Given the description of an element on the screen output the (x, y) to click on. 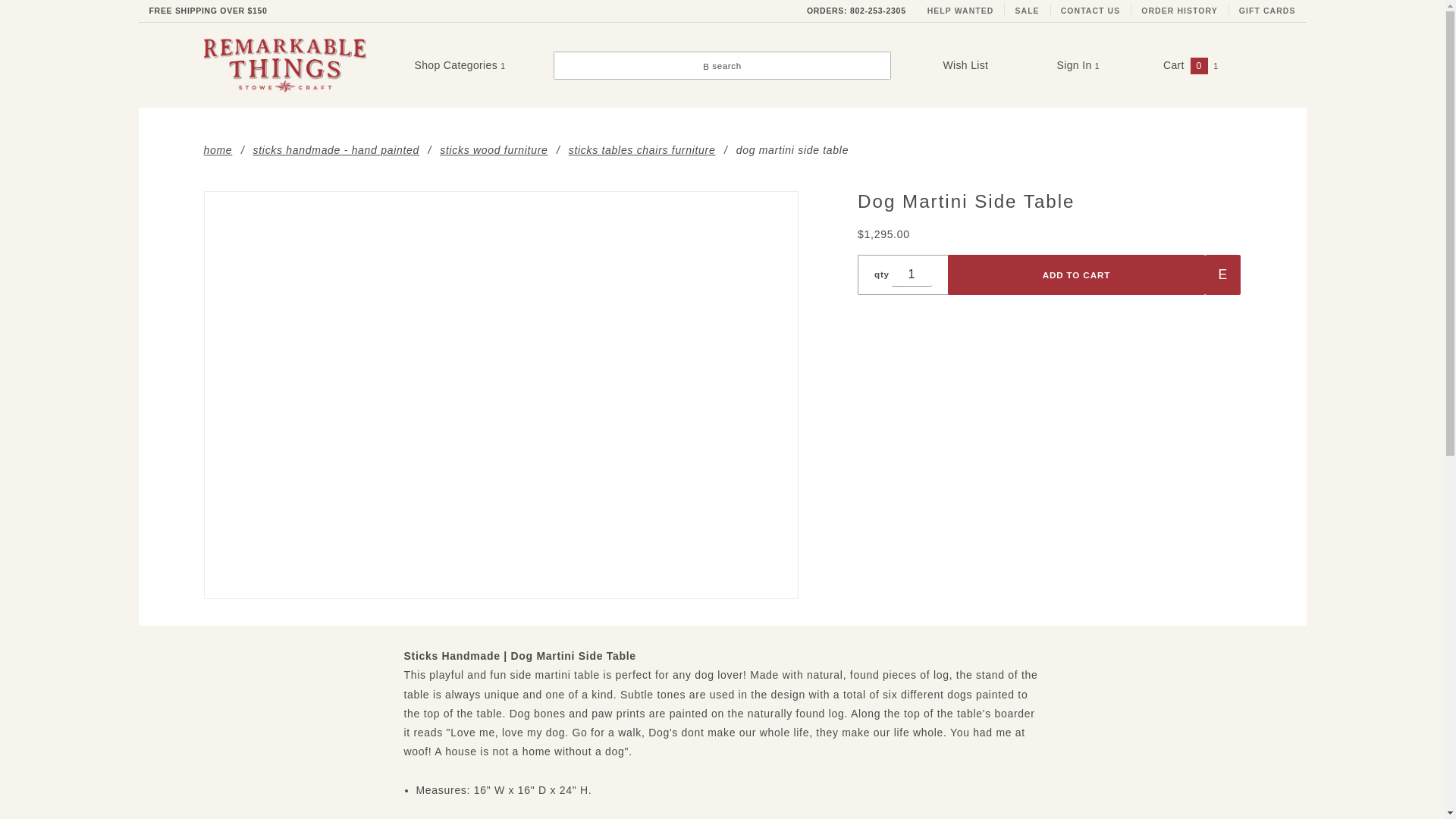
GIFT CARDS (1267, 11)
ORDERS: 802-253-2305 (856, 11)
Sign In (1133, 115)
CLOSE (1168, 12)
Sticks Handmade - Hand Painted (336, 149)
Sticks Tables Chairs Furniture (642, 149)
SEARCH (1164, 22)
SALE (1026, 11)
Sale (1026, 11)
Dog Martini Side Table (500, 394)
